Given the description of an element on the screen output the (x, y) to click on. 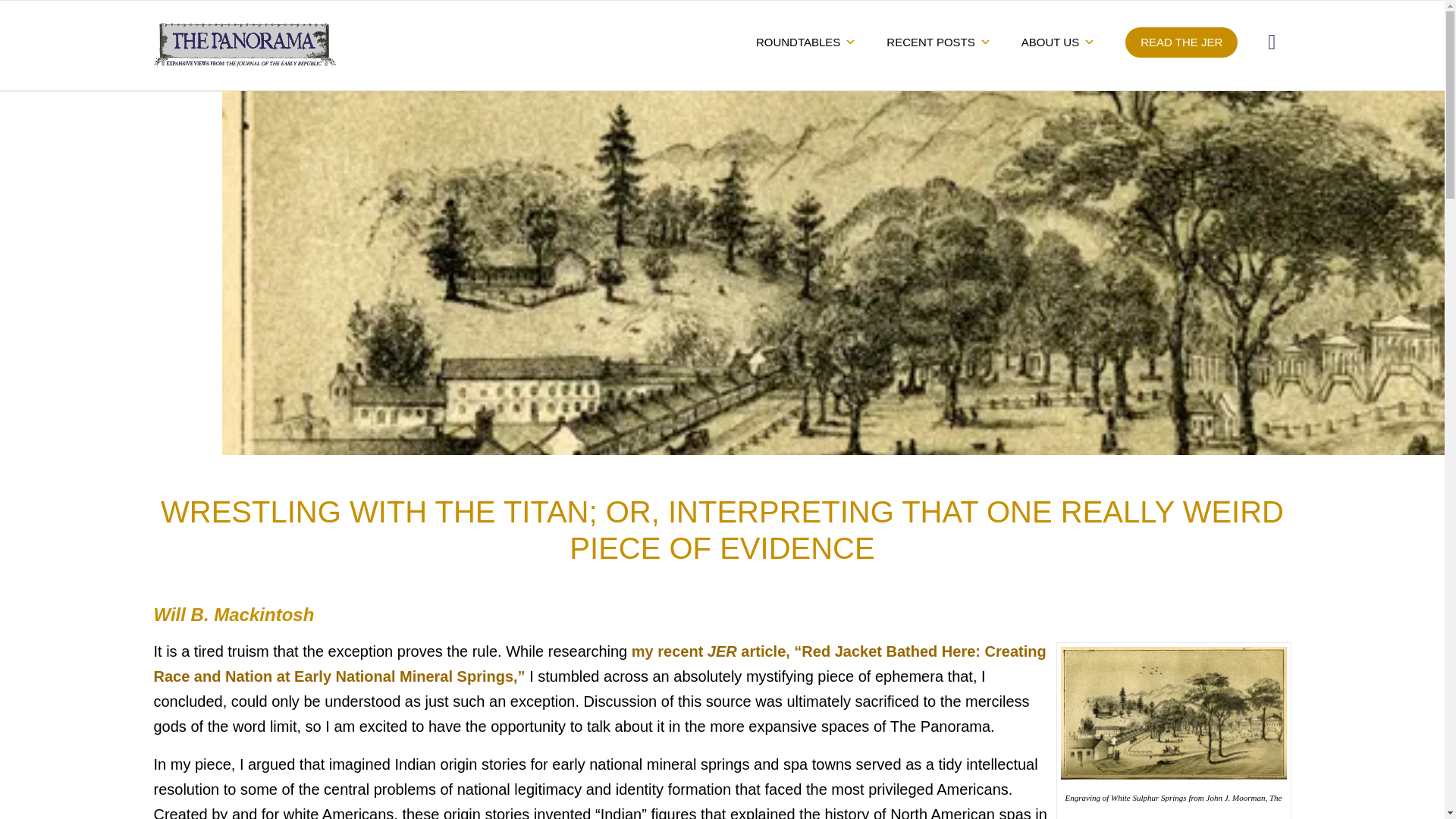
ROUNDTABLES (805, 42)
panoheader1206 (243, 44)
RECENT POSTS (938, 42)
